Given the description of an element on the screen output the (x, y) to click on. 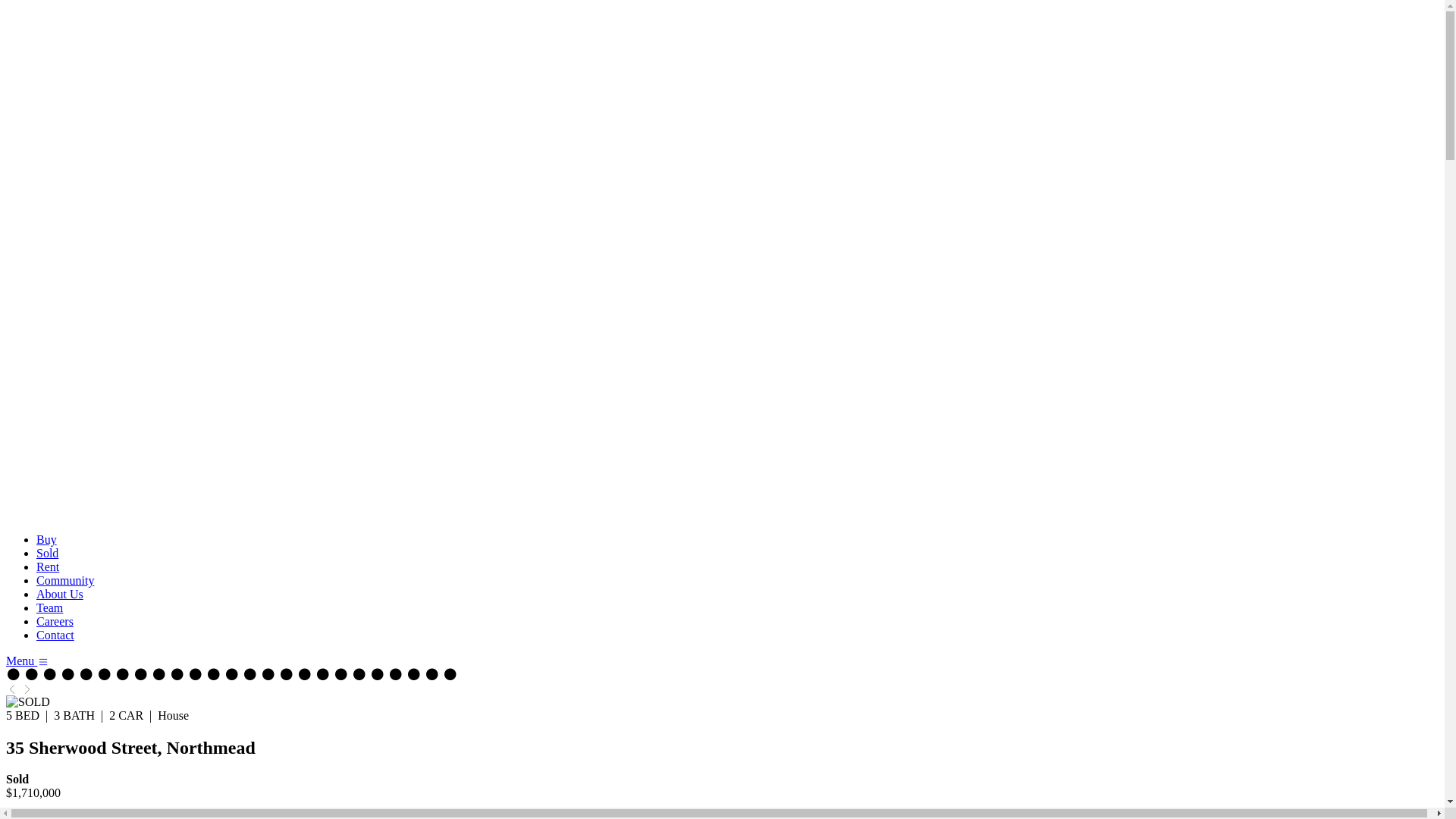
Team Element type: text (49, 607)
Rent Element type: text (47, 566)
Sold Element type: text (47, 552)
Careers Element type: text (54, 621)
< Element type: text (12, 687)
> Element type: text (27, 687)
Buy Element type: text (46, 539)
Community Element type: text (65, 580)
Contact Element type: text (55, 634)
About Us Element type: text (59, 593)
